Given the description of an element on the screen output the (x, y) to click on. 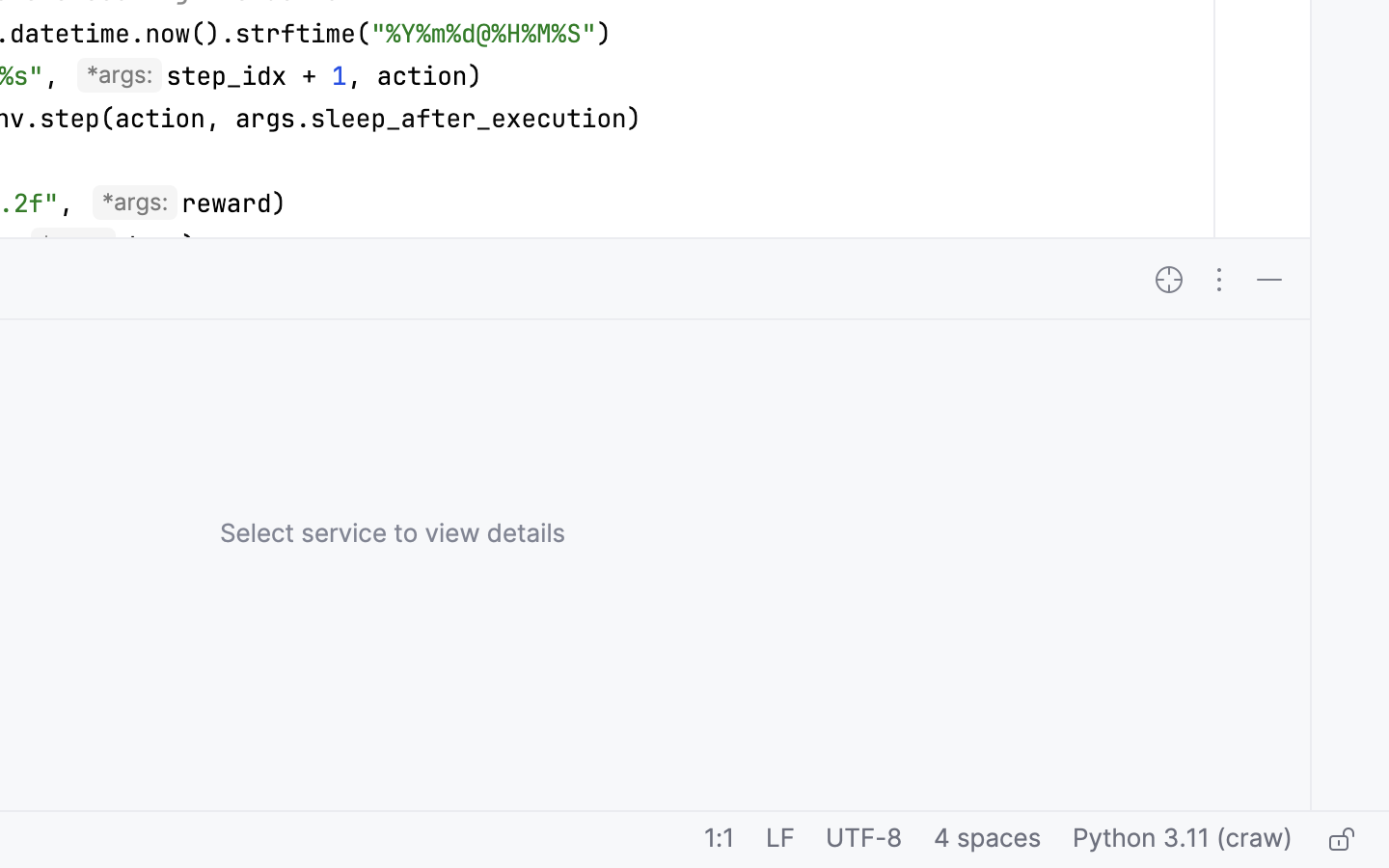
4 spaces Element type: AXStaticText (987, 839)
